Given the description of an element on the screen output the (x, y) to click on. 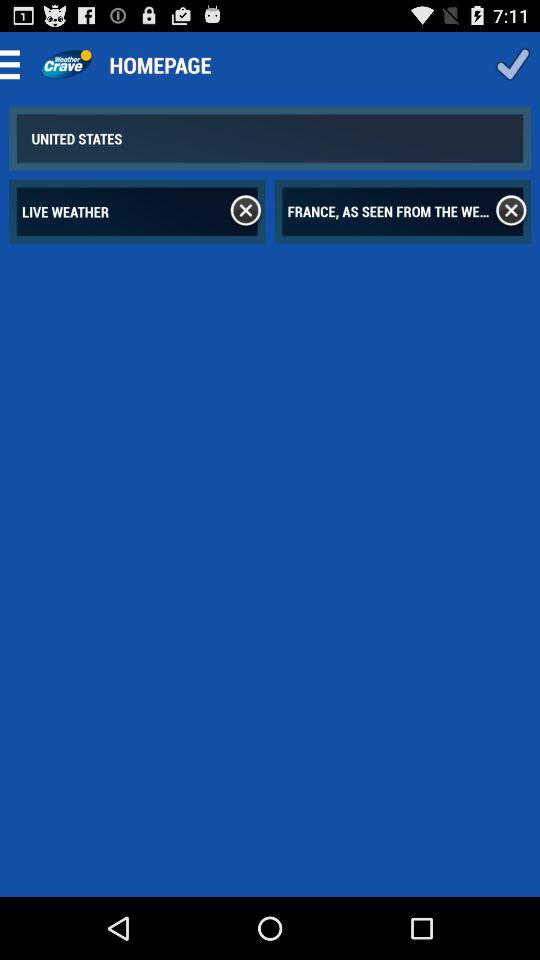
save changes (512, 64)
